Given the description of an element on the screen output the (x, y) to click on. 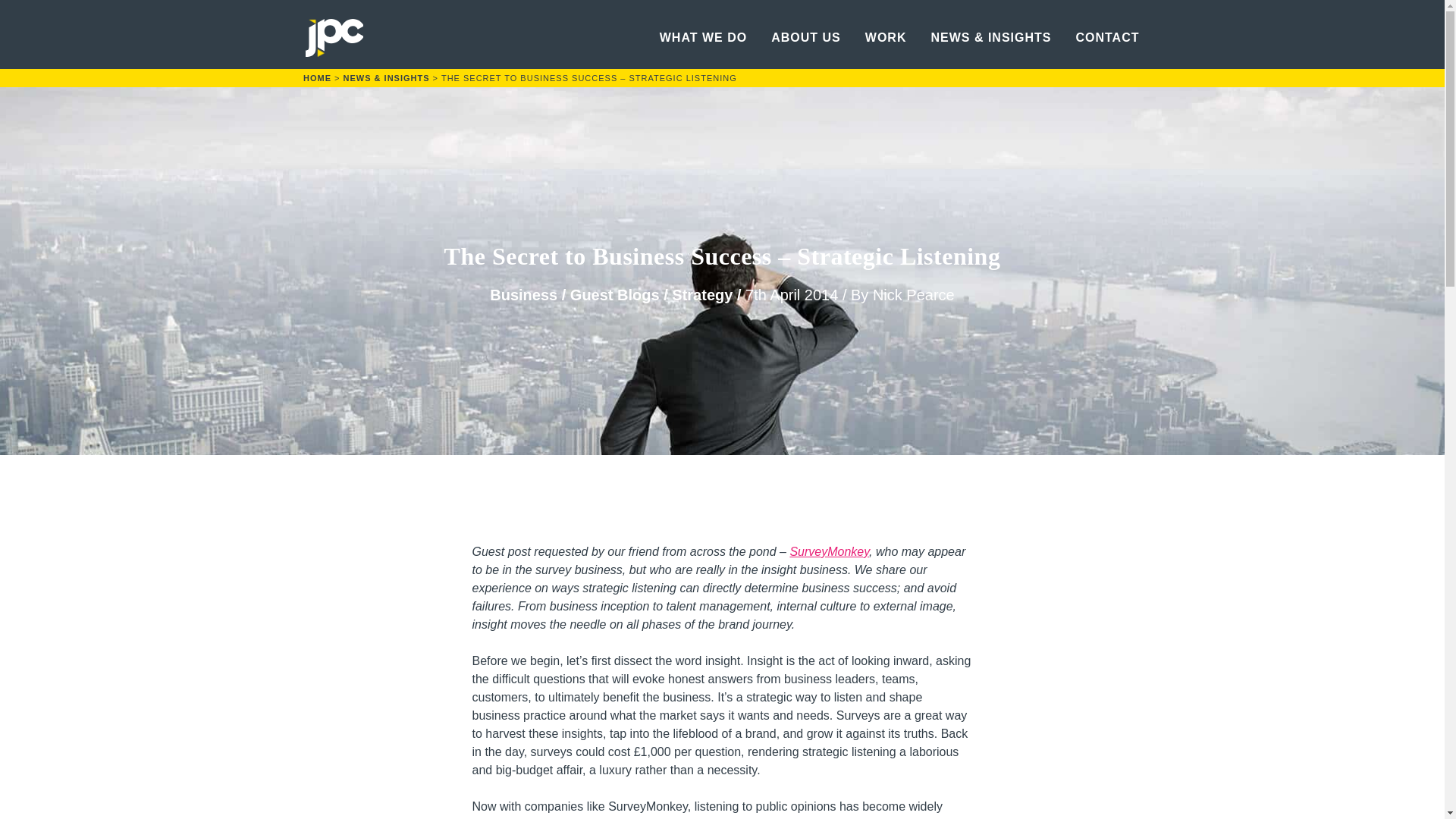
Guest Blogs (614, 294)
WHAT WE DO (702, 38)
ABOUT US (806, 38)
SurveyMonkey (829, 551)
Strategy (701, 294)
HOME (316, 78)
Business (523, 294)
